Given the description of an element on the screen output the (x, y) to click on. 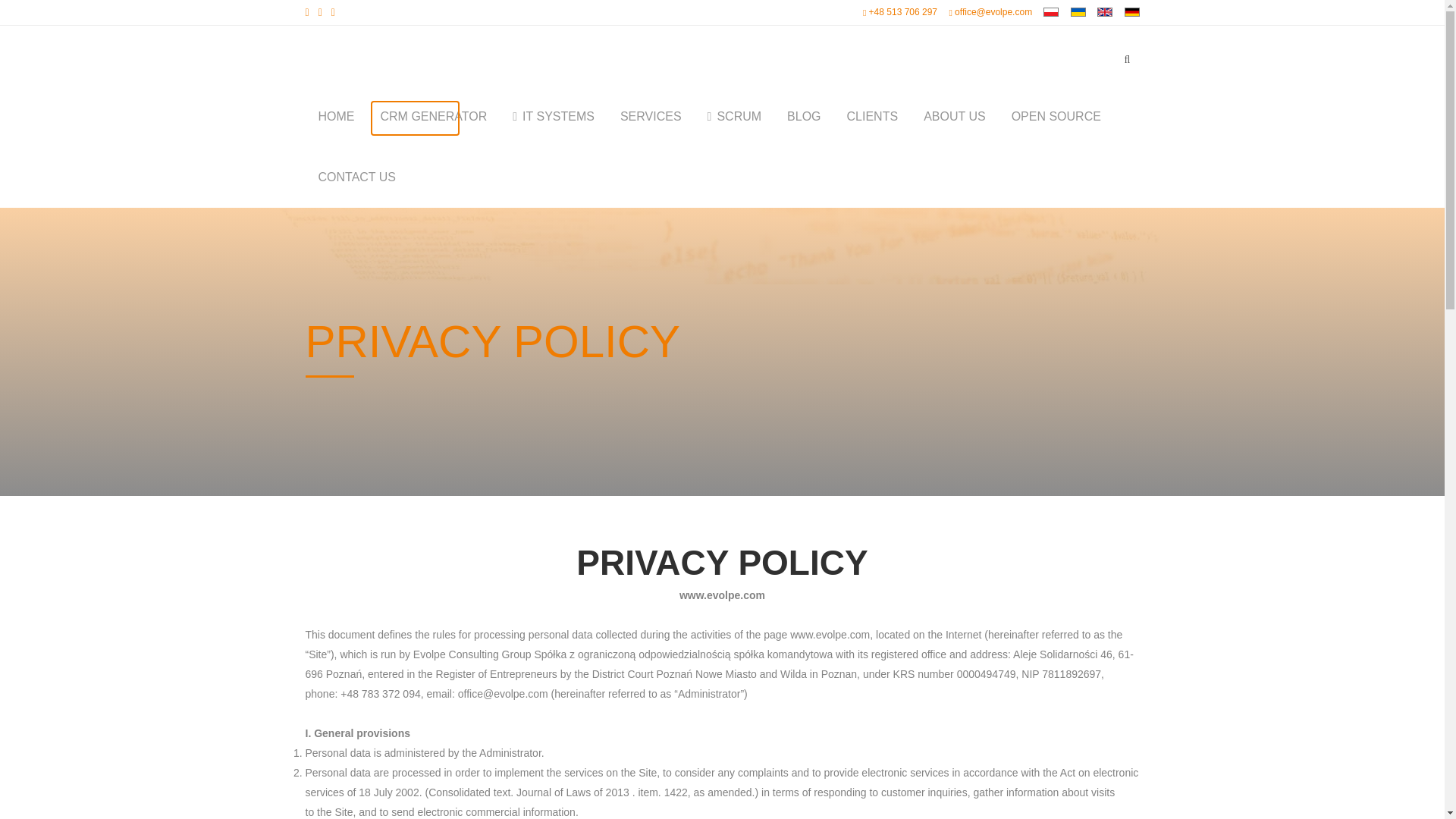
IT SYSTEMS (553, 116)
SCRUM (734, 116)
HOME (335, 116)
CLIENTS (872, 116)
CRM GENERATOR (432, 116)
SERVICES (650, 116)
BLOG (803, 116)
